Given the description of an element on the screen output the (x, y) to click on. 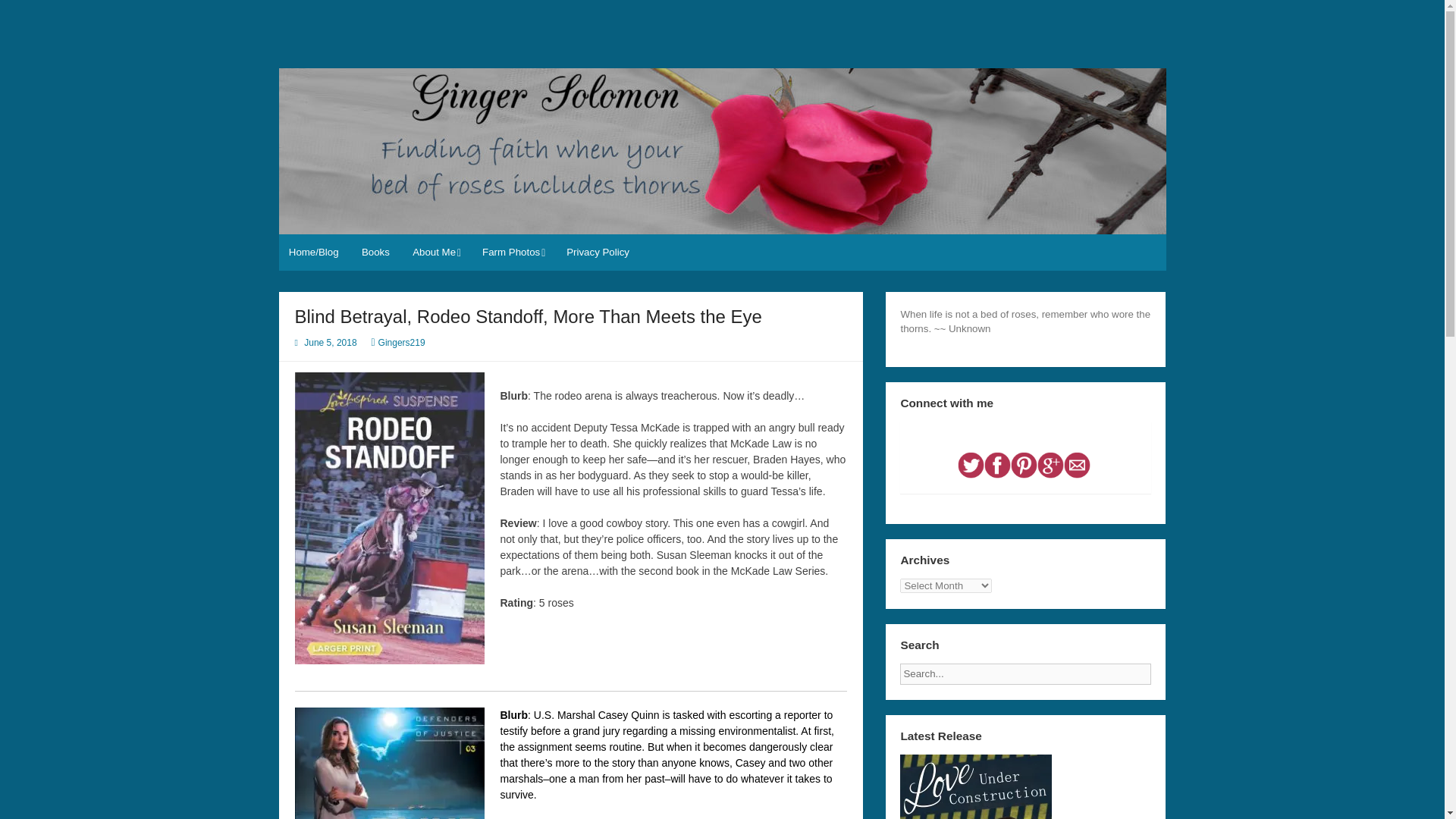
About Me (435, 252)
Search (1163, 669)
June 5, 2018 (330, 342)
Privacy Policy (597, 252)
Books (376, 252)
Search (1163, 669)
Farm Photos (512, 252)
Gingers219 (401, 342)
